Given the description of an element on the screen output the (x, y) to click on. 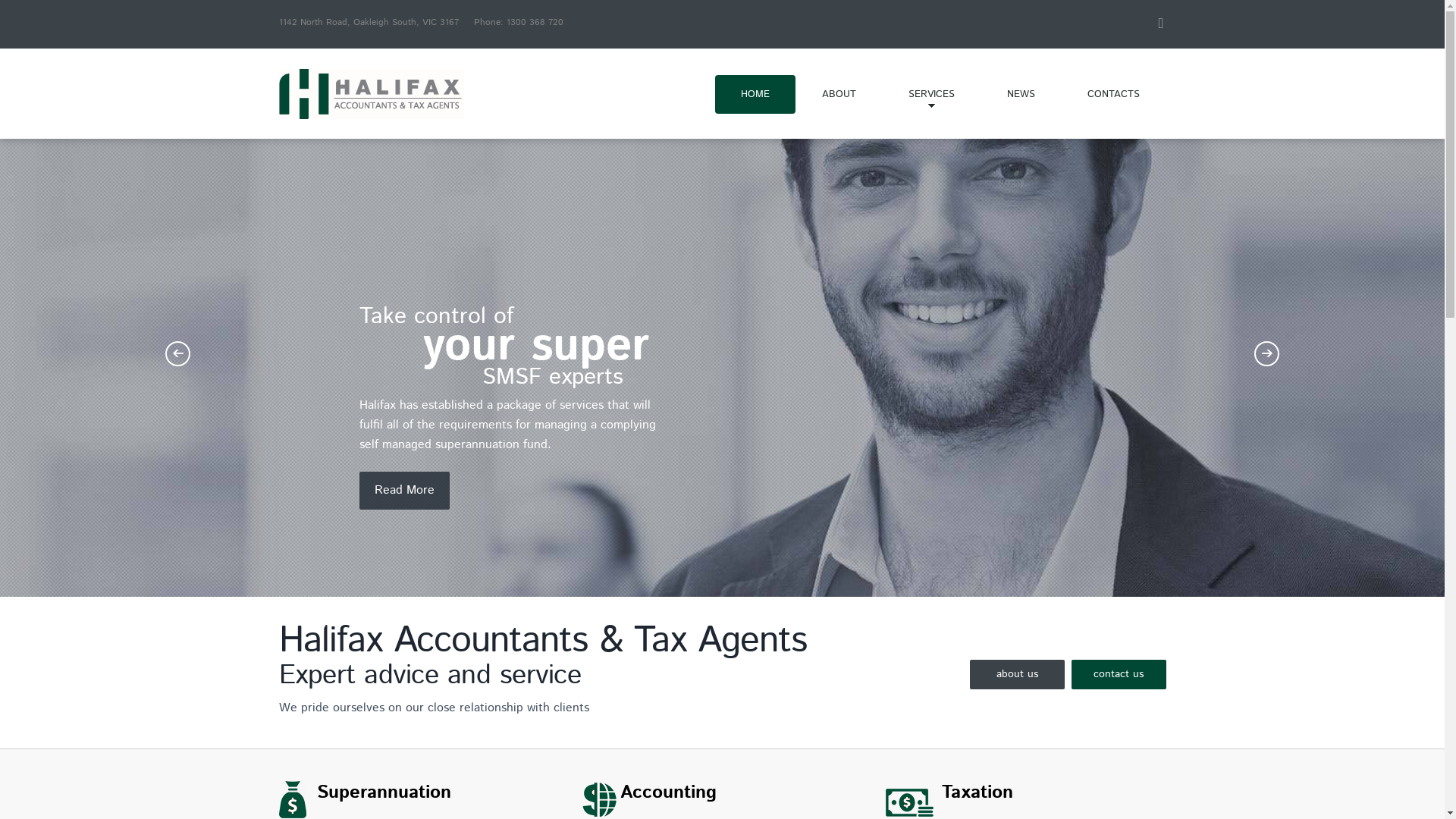
contact us Element type: text (1117, 674)
NEWS Element type: text (1020, 94)
Read More Element type: text (404, 490)
CONTACTS Element type: text (1113, 94)
1142 North Road, Oakleigh South, VIC 3167 Element type: text (368, 21)
about us Element type: text (1016, 674)
HOME Element type: text (754, 94)
Phone: 1300 368 720 Element type: text (517, 21)
ABOUT Element type: text (838, 94)
